Given the description of an element on the screen output the (x, y) to click on. 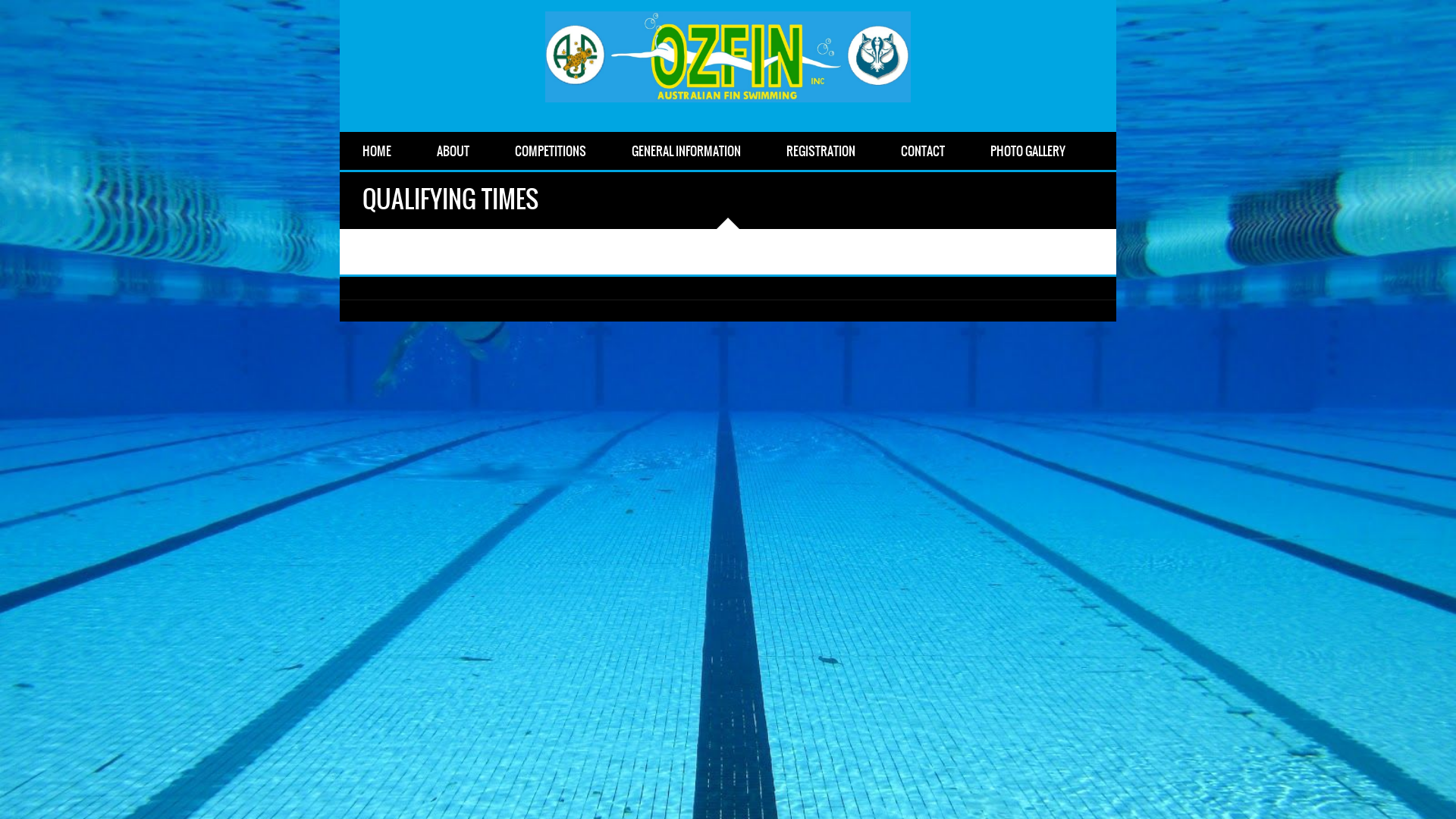
CONTACT Element type: text (922, 150)
COMPETITIONS Element type: text (550, 150)
ABOUT Element type: text (453, 150)
REGISTRATION Element type: text (820, 150)
HOME Element type: text (376, 150)
GENERAL INFORMATION Element type: text (685, 150)
PHOTO GALLERY Element type: text (1027, 150)
